Given the description of an element on the screen output the (x, y) to click on. 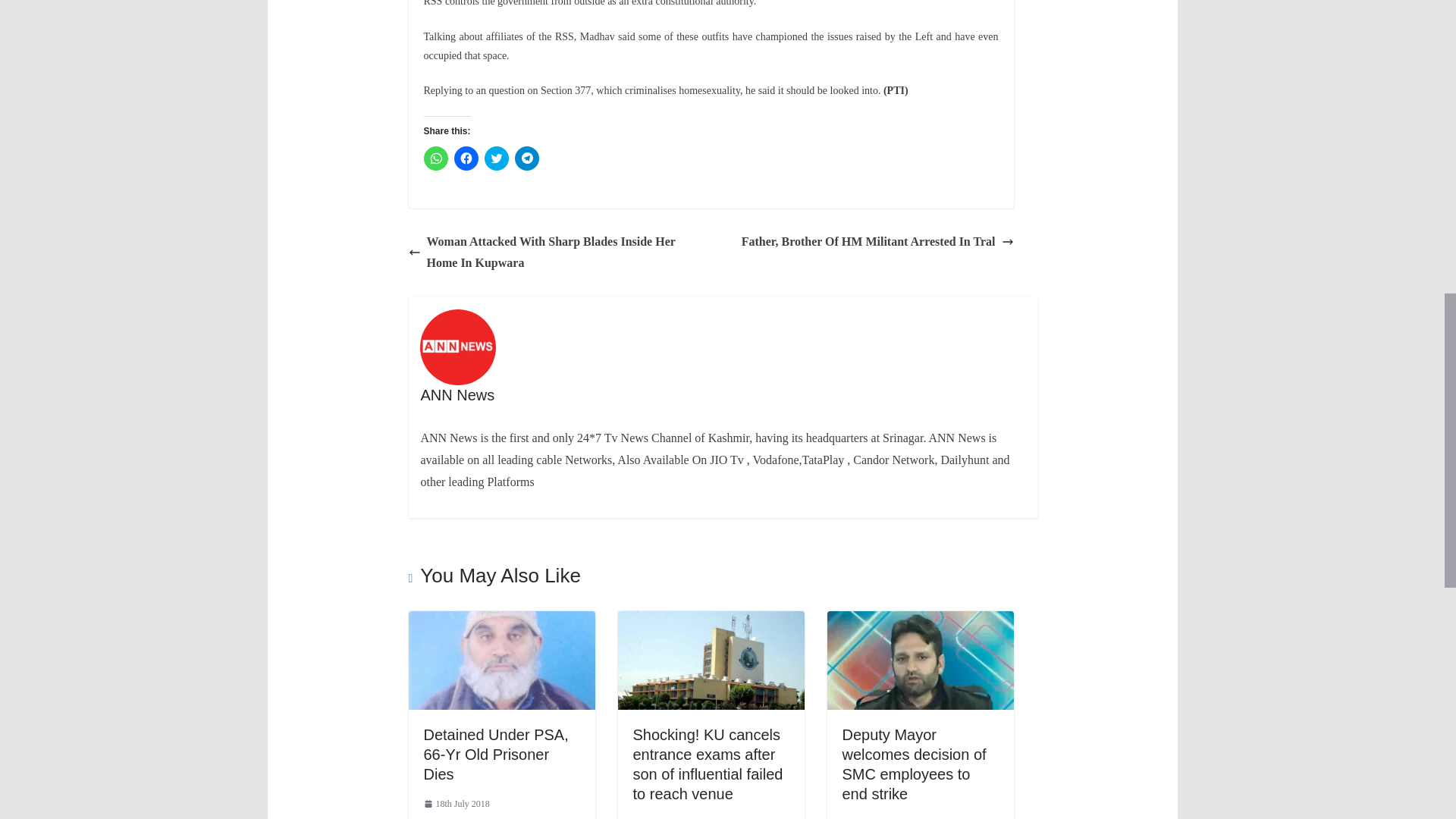
Click to share on WhatsApp (434, 158)
Woman Attacked With Sharp Blades Inside Her Home In Kupwara (555, 252)
18th July 2018 (456, 804)
Detained Under PSA, 66-Yr Old Prisoner Dies (495, 754)
Father, Brother Of HM Militant Arrested In Tral (877, 241)
Click to share on Facebook (464, 158)
